Given the description of an element on the screen output the (x, y) to click on. 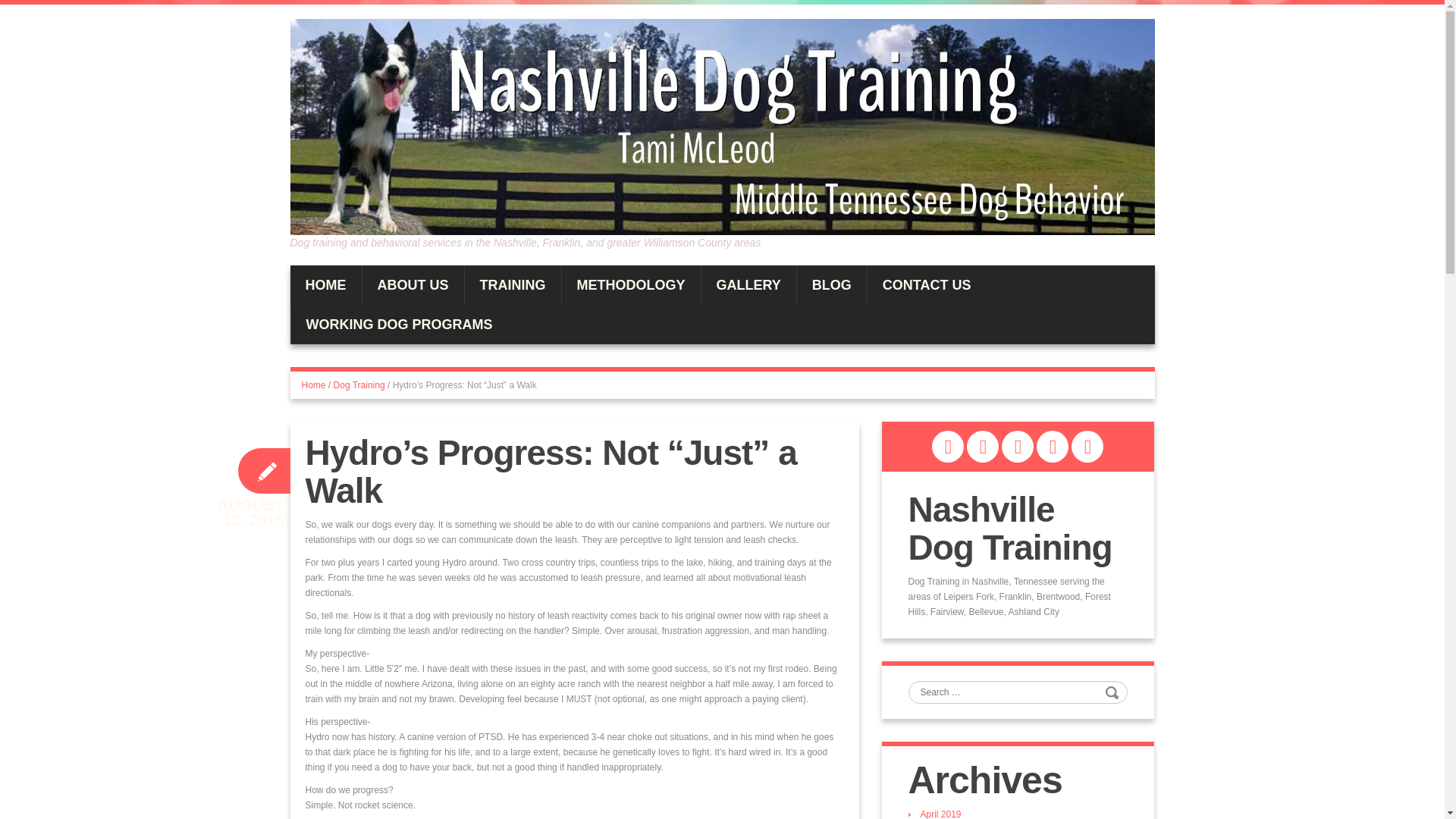
METHODOLOGY (630, 284)
Dog Training (359, 385)
HOME (325, 284)
ABOUT US (413, 284)
TRAINING (512, 284)
Search (1113, 691)
CONTACT US (927, 284)
WORKING DOG PROGRAMS (399, 323)
BLOG (831, 284)
Home (313, 385)
GALLERY (747, 284)
